Given the description of an element on the screen output the (x, y) to click on. 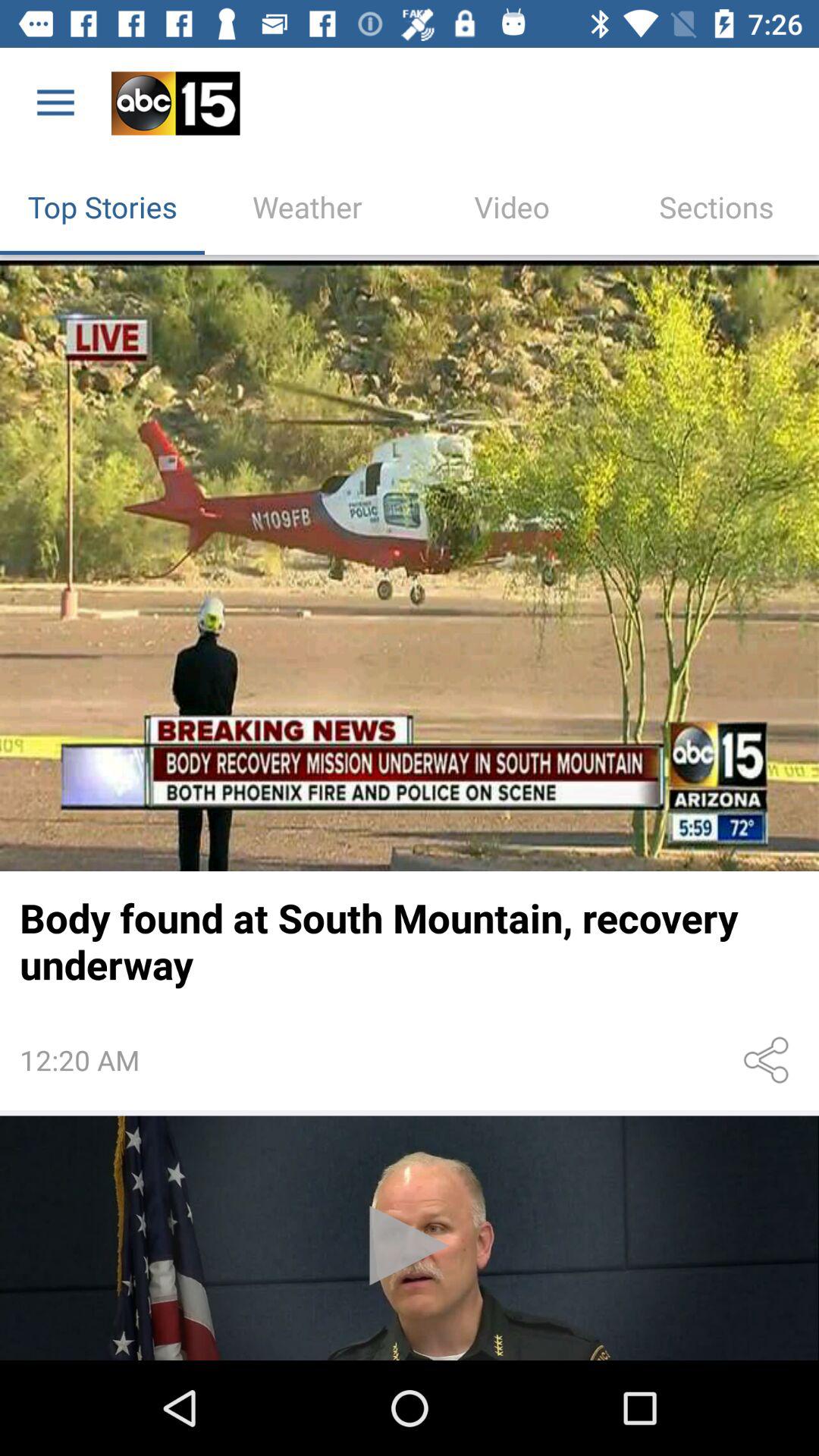
share option (769, 1060)
